Given the description of an element on the screen output the (x, y) to click on. 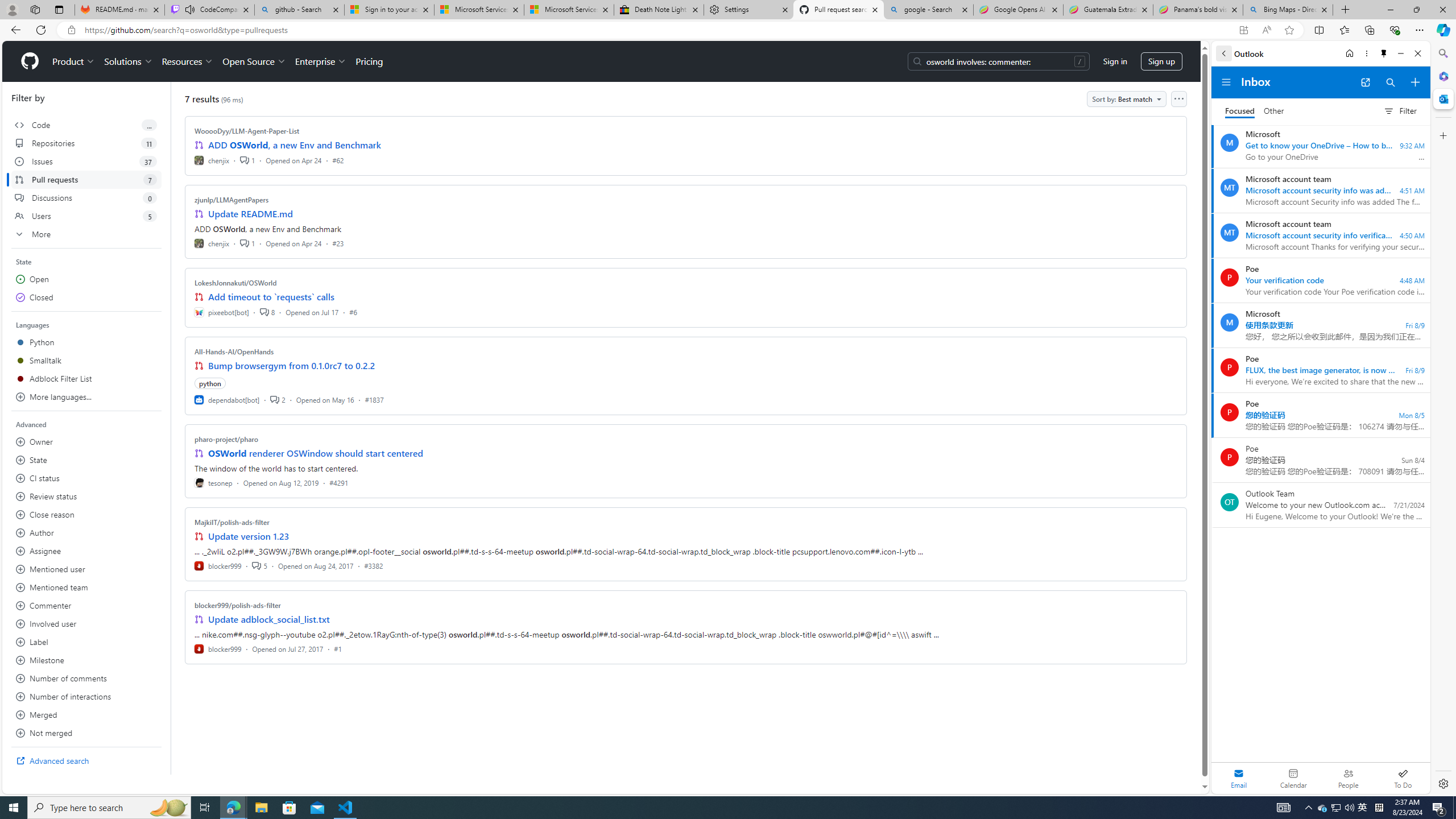
#3382 (373, 565)
Microsoft Services Agreement (568, 9)
Sign up (1161, 61)
ADD OSWorld, a new Env and Benchmark (294, 144)
Other (1273, 110)
Update version 1.23 (248, 535)
Advanced search (86, 760)
pharo-project/pharo (226, 438)
